Given the description of an element on the screen output the (x, y) to click on. 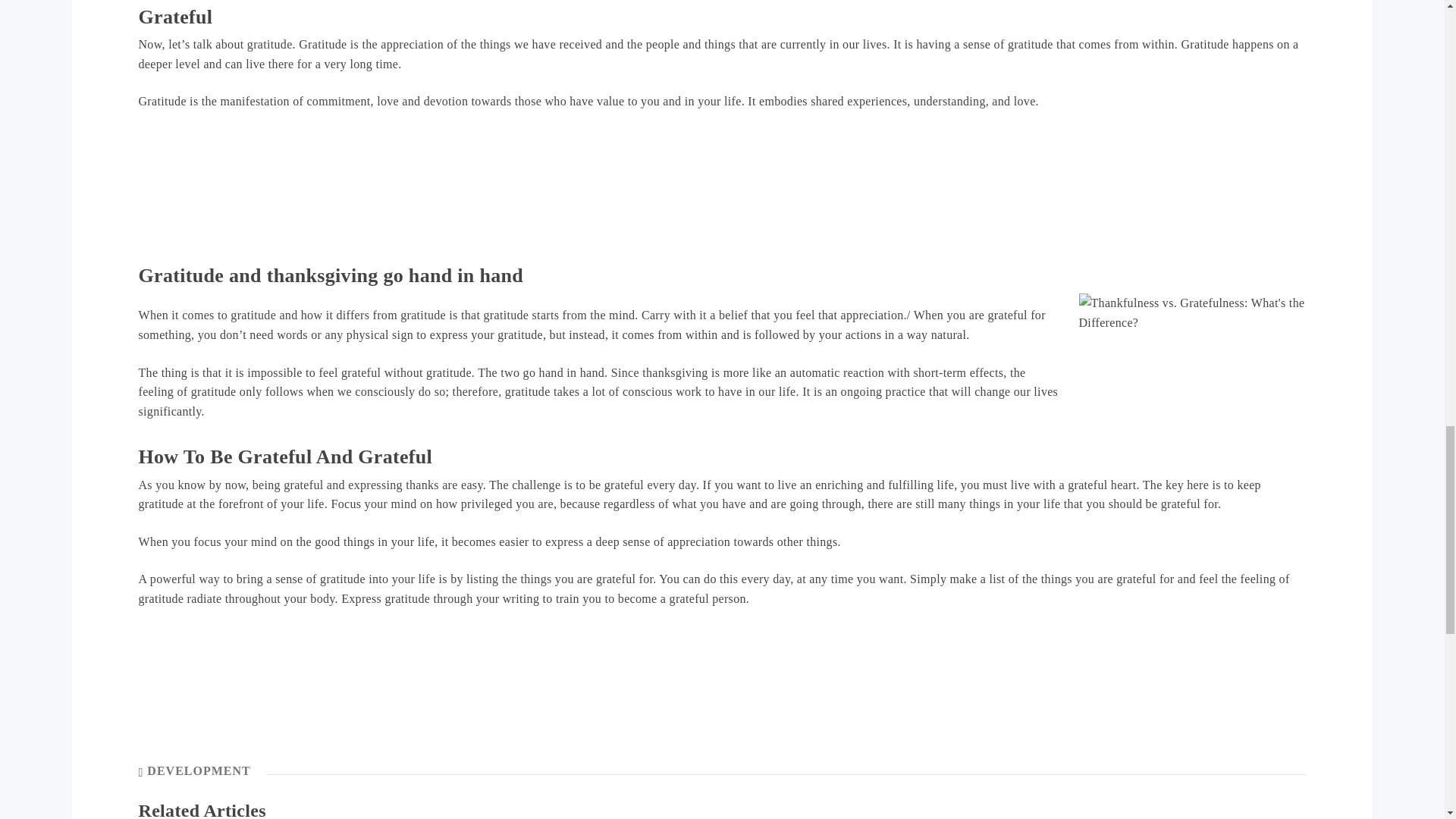
DEVELOPMENT (198, 770)
